Given the description of an element on the screen output the (x, y) to click on. 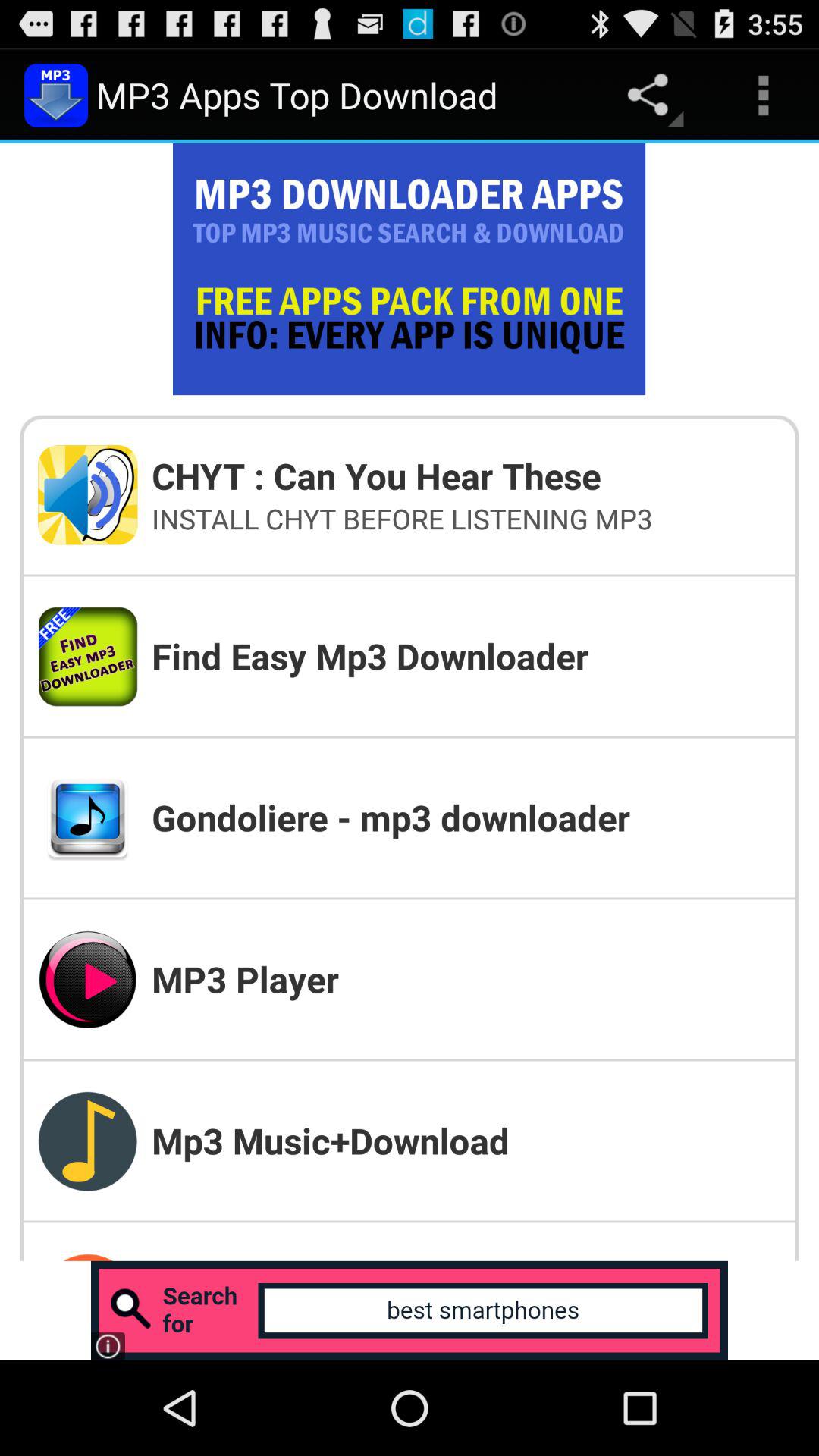
open item above the mp3 music+download app (465, 978)
